Given the description of an element on the screen output the (x, y) to click on. 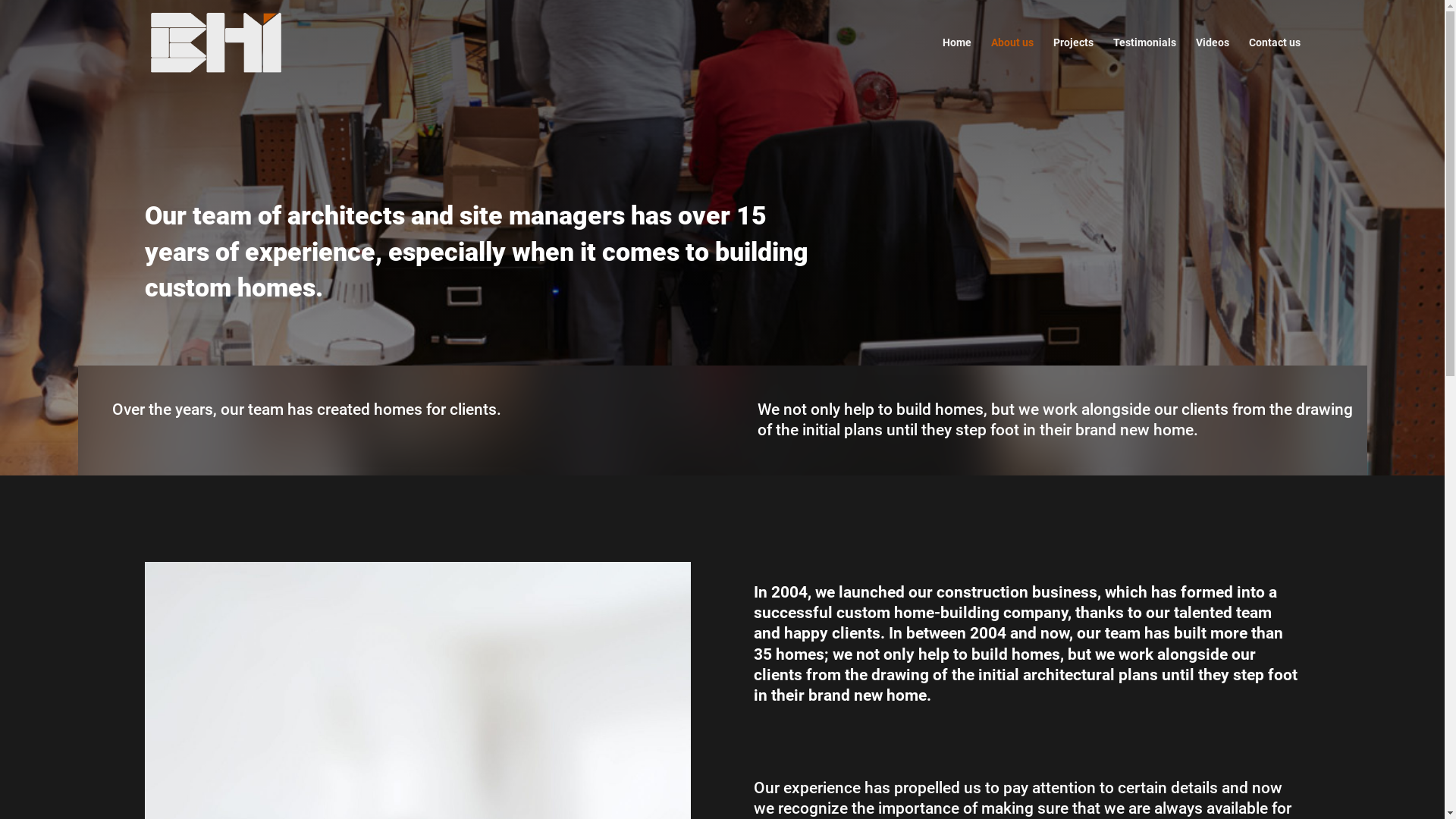
Projects Element type: text (1072, 60)
Contact us Element type: text (1273, 60)
Testimonials Element type: text (1144, 60)
Videos Element type: text (1211, 60)
Home Element type: text (955, 60)
About us Element type: text (1011, 60)
